Given the description of an element on the screen output the (x, y) to click on. 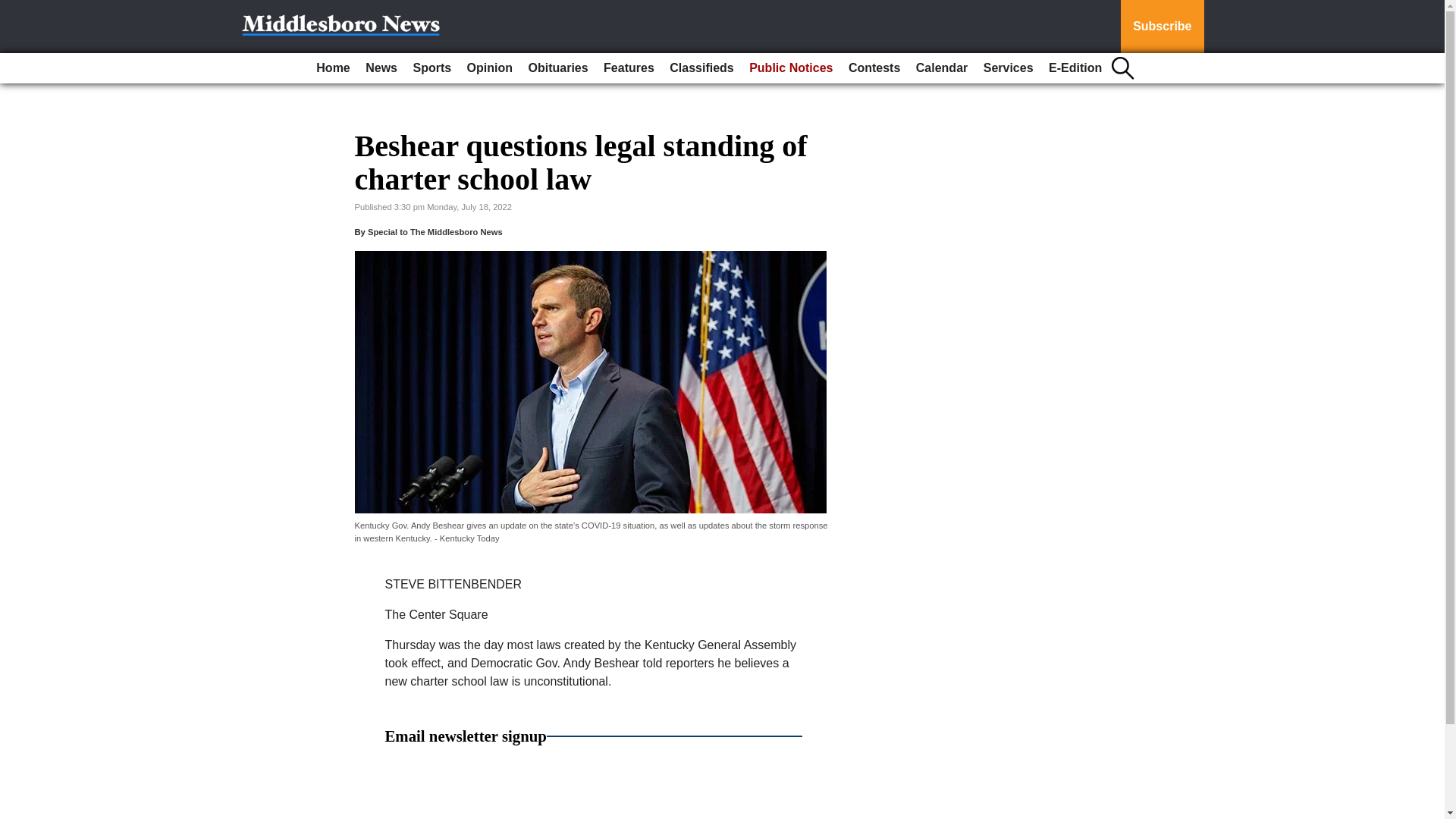
Opinion (489, 68)
Services (1007, 68)
Obituaries (557, 68)
Public Notices (790, 68)
Classifieds (701, 68)
E-Edition (1075, 68)
News (381, 68)
Go (13, 9)
Special to The Middlesboro News (435, 231)
Subscribe (1162, 26)
